Given the description of an element on the screen output the (x, y) to click on. 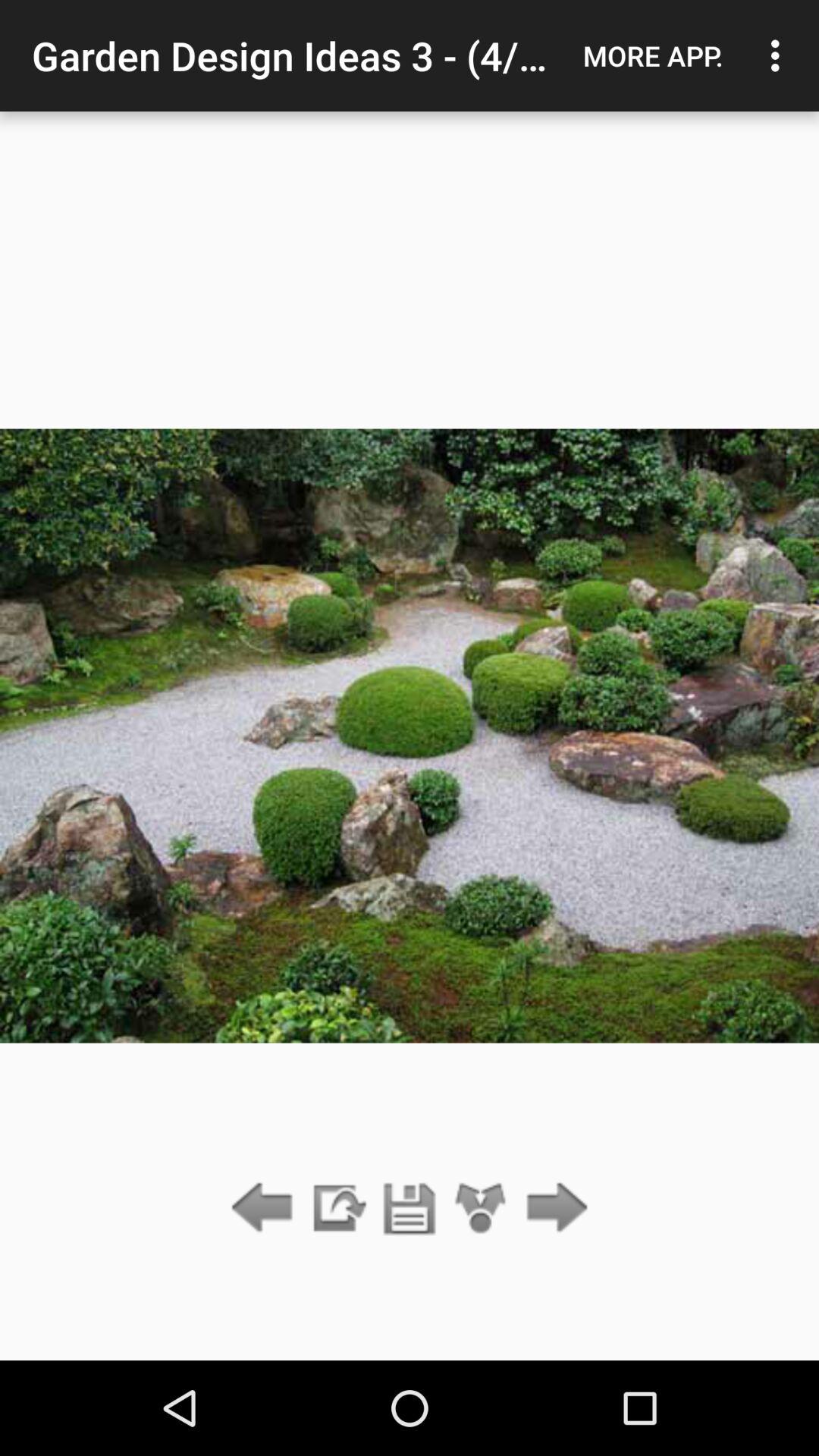
jump until more app. (653, 55)
